Given the description of an element on the screen output the (x, y) to click on. 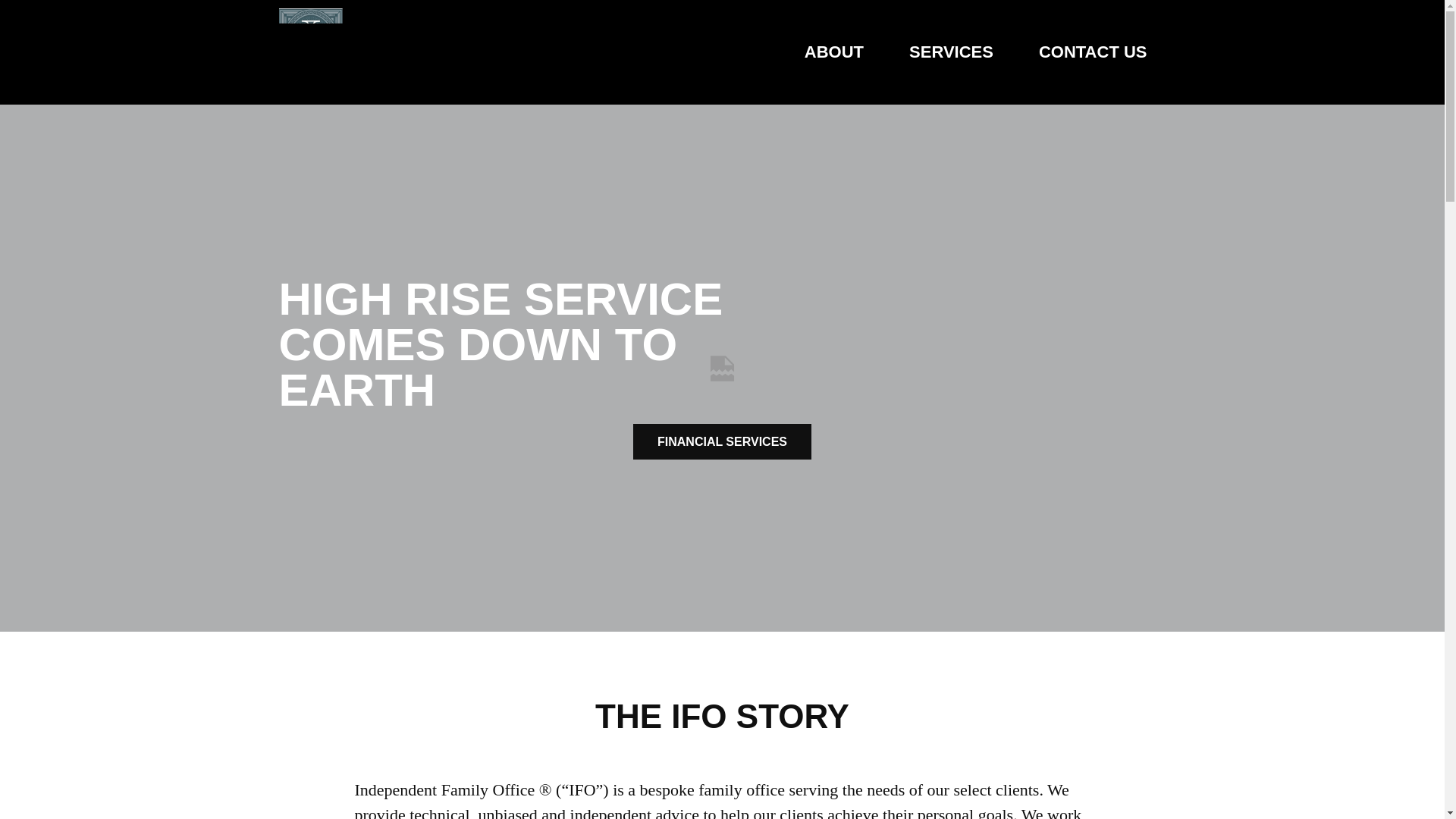
FINANCIAL SERVICES (721, 441)
CONTACT US (1093, 51)
ABOUT (834, 51)
SERVICES (950, 51)
